Given the description of an element on the screen output the (x, y) to click on. 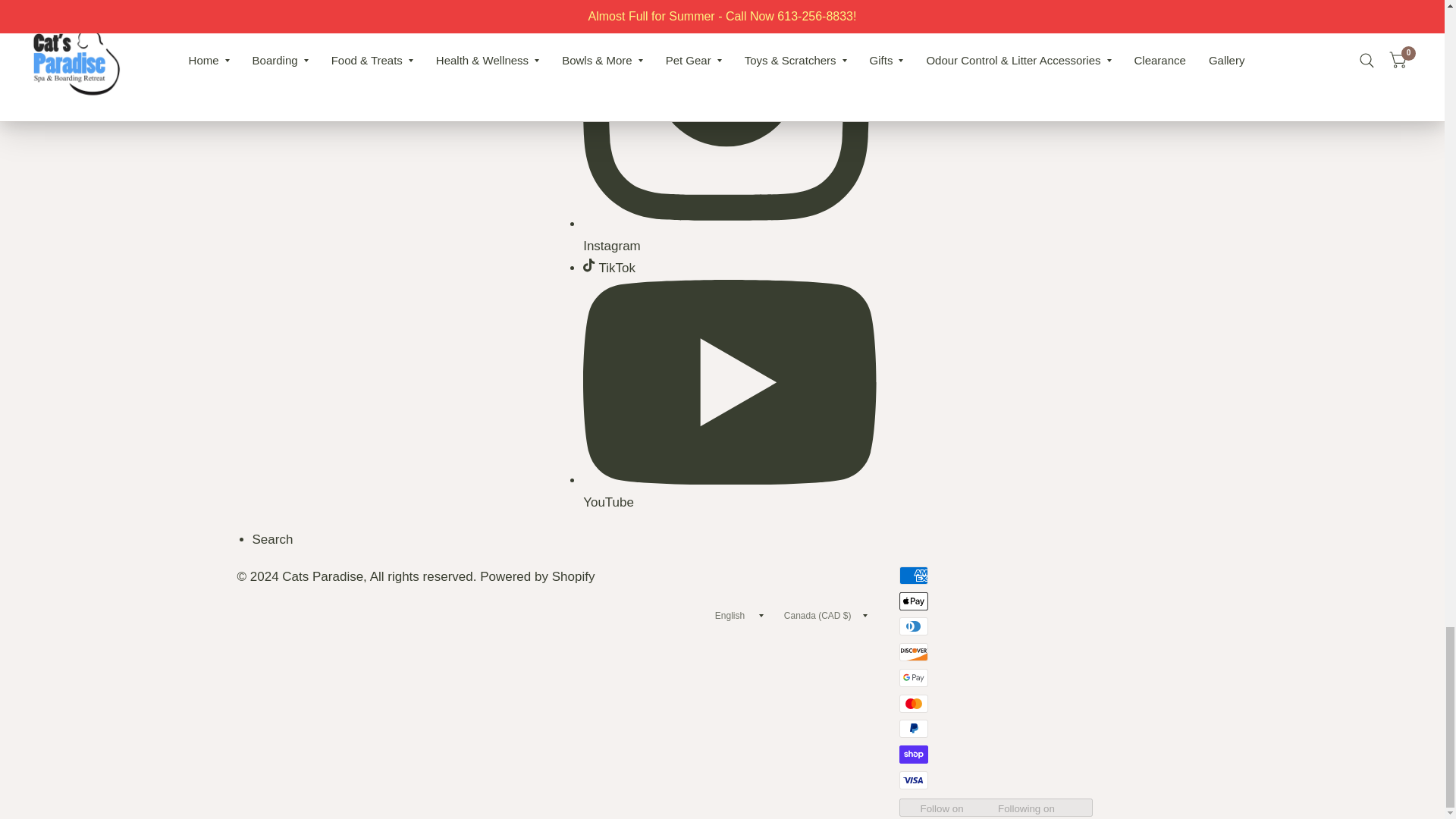
American Express (913, 575)
Diners Club (913, 626)
Apple Pay (913, 601)
